Given the description of an element on the screen output the (x, y) to click on. 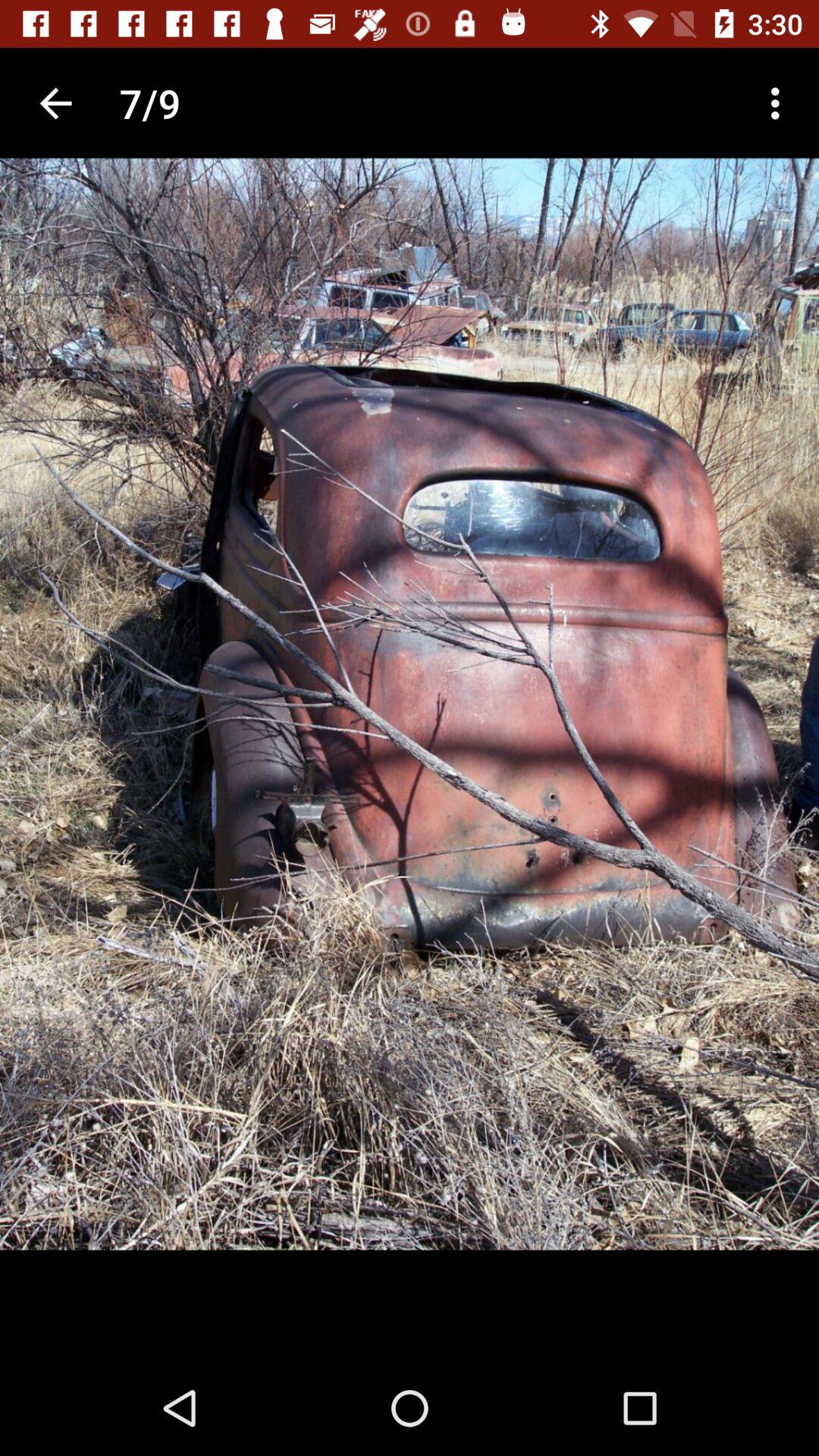
click the item next to the 7/9 app (55, 103)
